Given the description of an element on the screen output the (x, y) to click on. 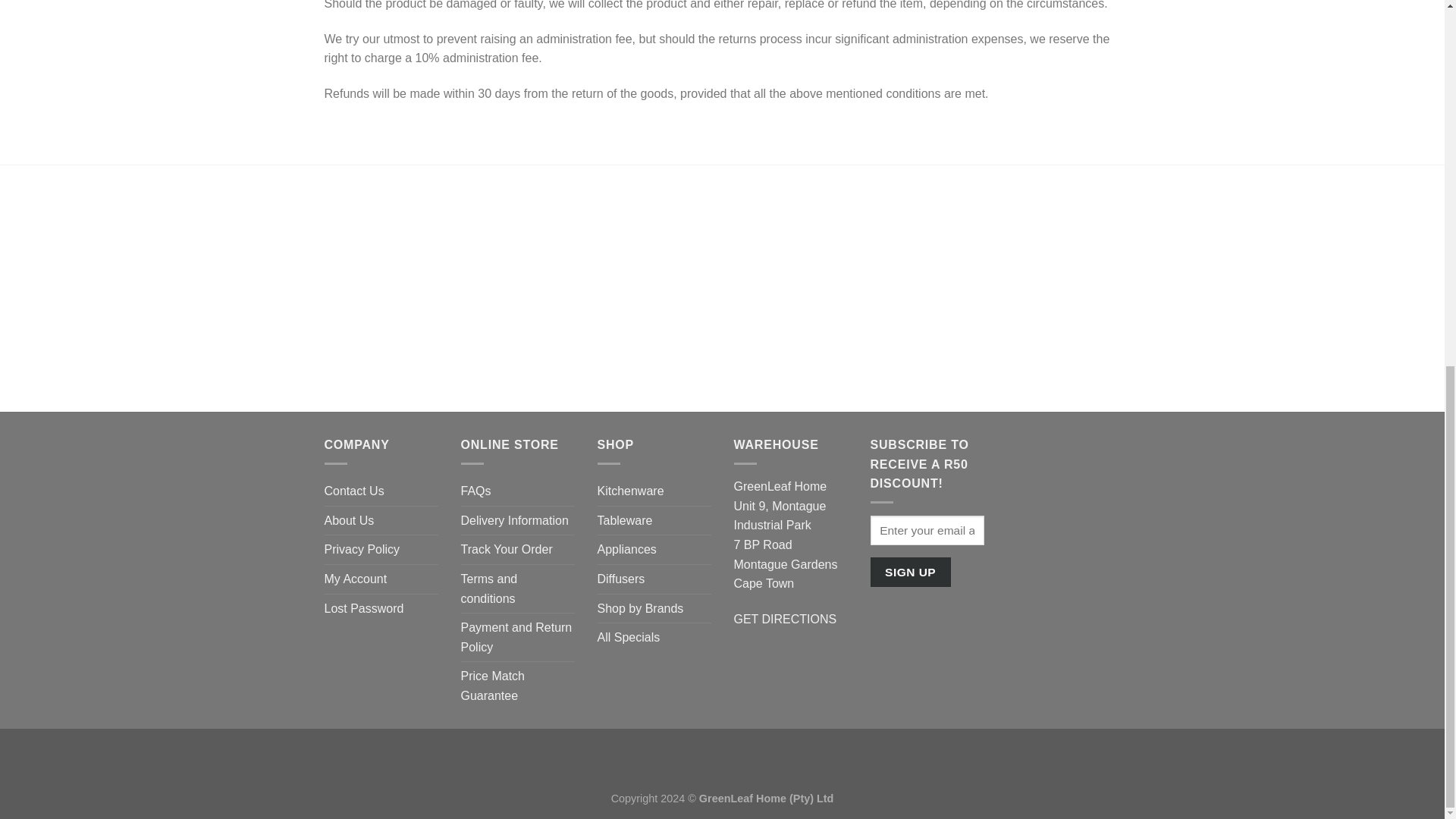
SIGN UP (910, 572)
